Given the description of an element on the screen output the (x, y) to click on. 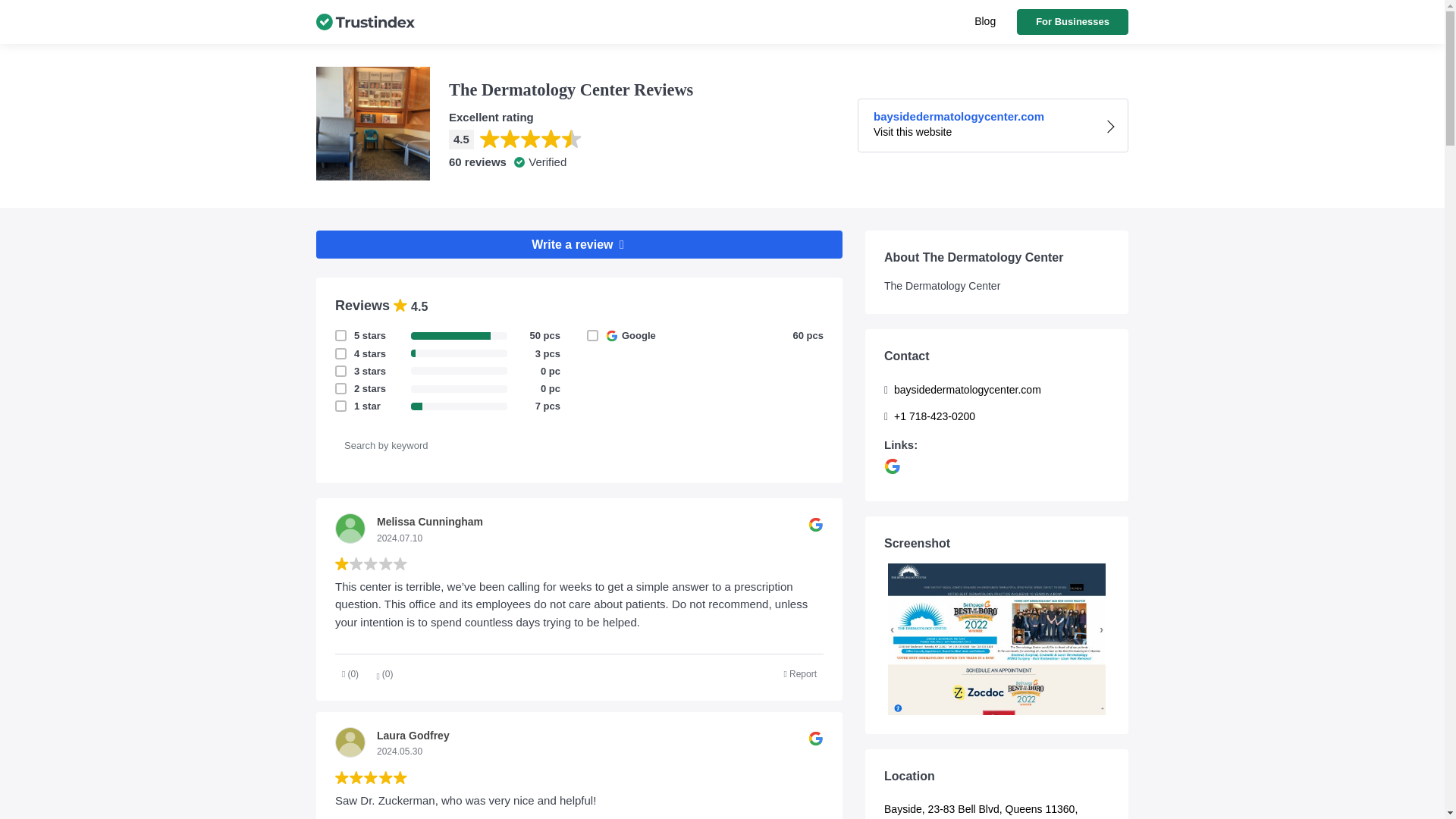
1 (354, 406)
Google (606, 335)
2 (354, 388)
Blog (984, 21)
Write a review (579, 244)
For Businesses (1072, 22)
4 (354, 353)
5 (992, 125)
3 (354, 335)
Report (354, 370)
